Given the description of an element on the screen output the (x, y) to click on. 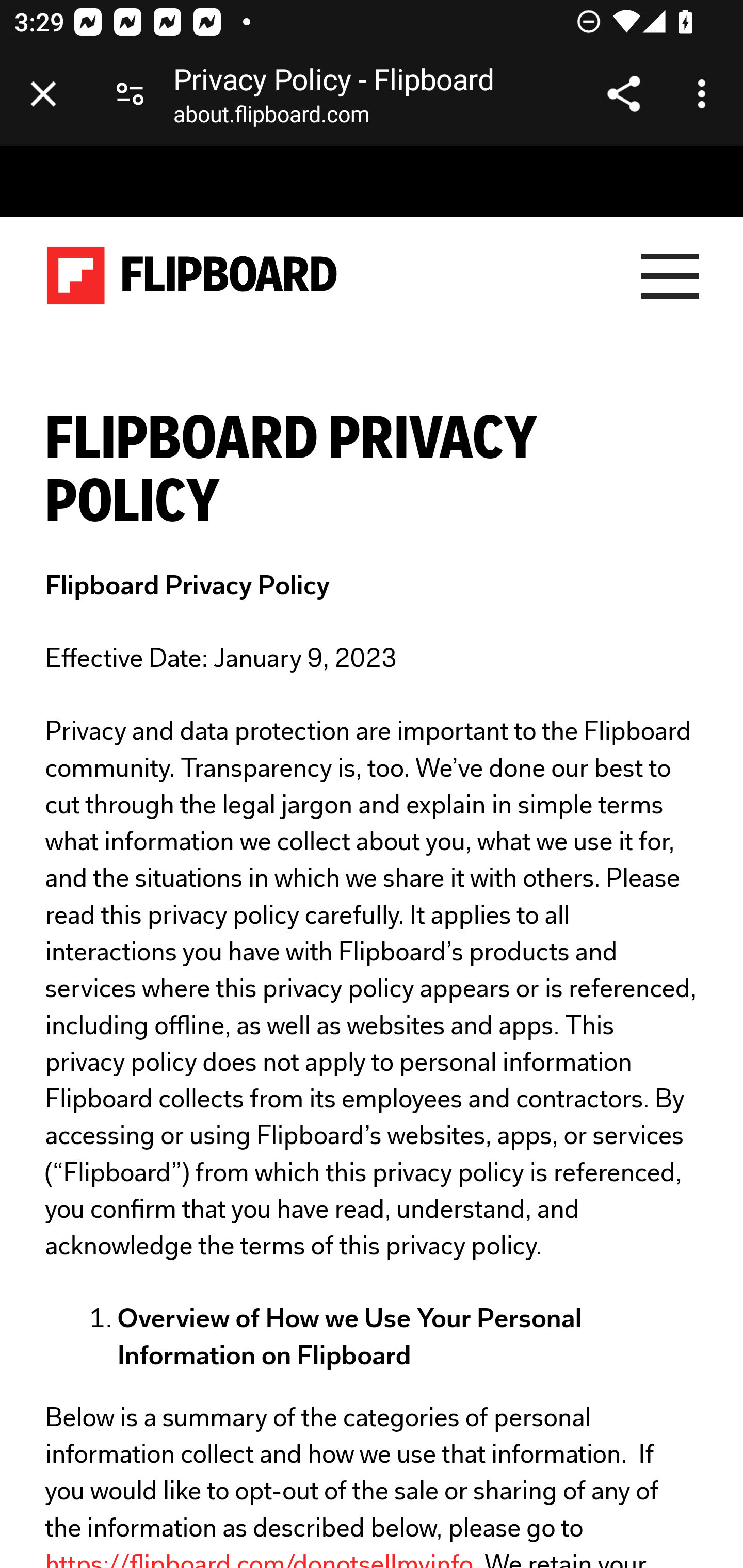
Close tab (43, 93)
Share link address (623, 93)
Customize and control Google Chrome (705, 93)
Connection is secure (129, 93)
about.flipboard.com (271, 117)
Flipboard Logo (192, 276)
